Given the description of an element on the screen output the (x, y) to click on. 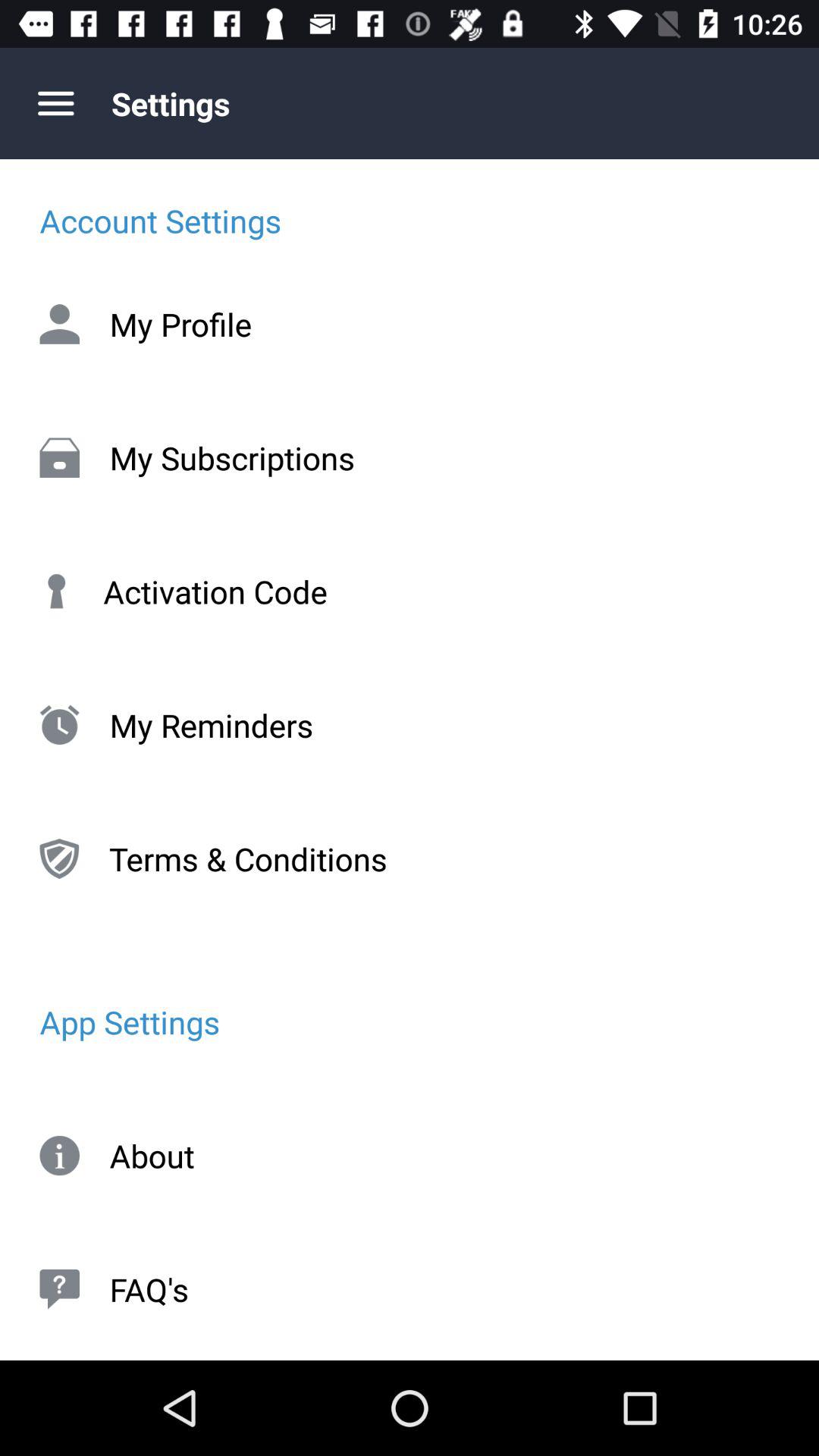
flip to my reminders item (409, 724)
